Given the description of an element on the screen output the (x, y) to click on. 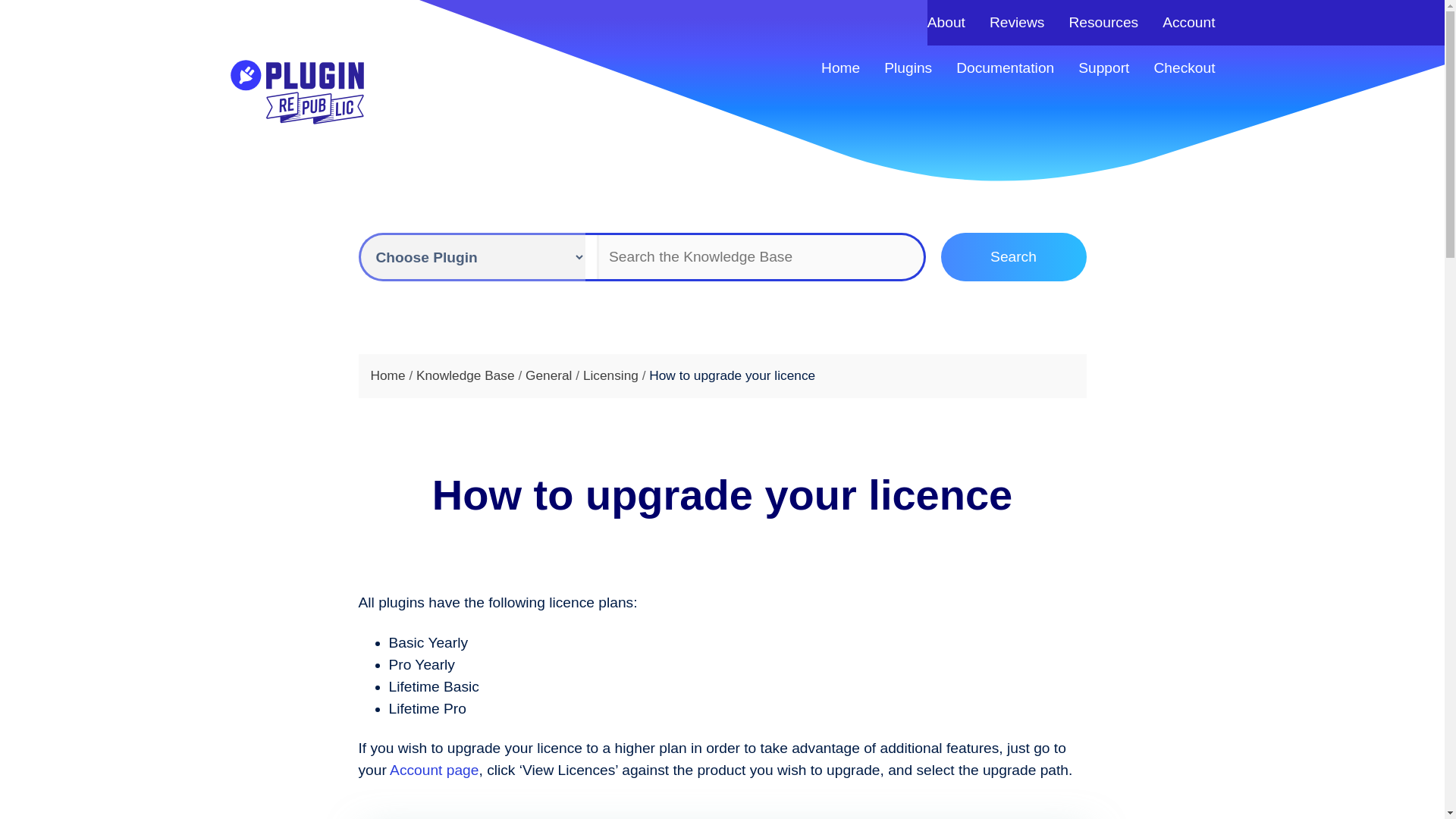
Account page (434, 770)
Account (1187, 22)
About (946, 22)
Home (389, 375)
Documentation (1005, 67)
Home (840, 67)
Licensing (612, 375)
Resources (1103, 22)
Knowledge Base (467, 375)
General (550, 375)
Plugins (907, 67)
Checkout (1183, 67)
Support (1103, 67)
Reviews (1017, 22)
Search (1013, 256)
